Given the description of an element on the screen output the (x, y) to click on. 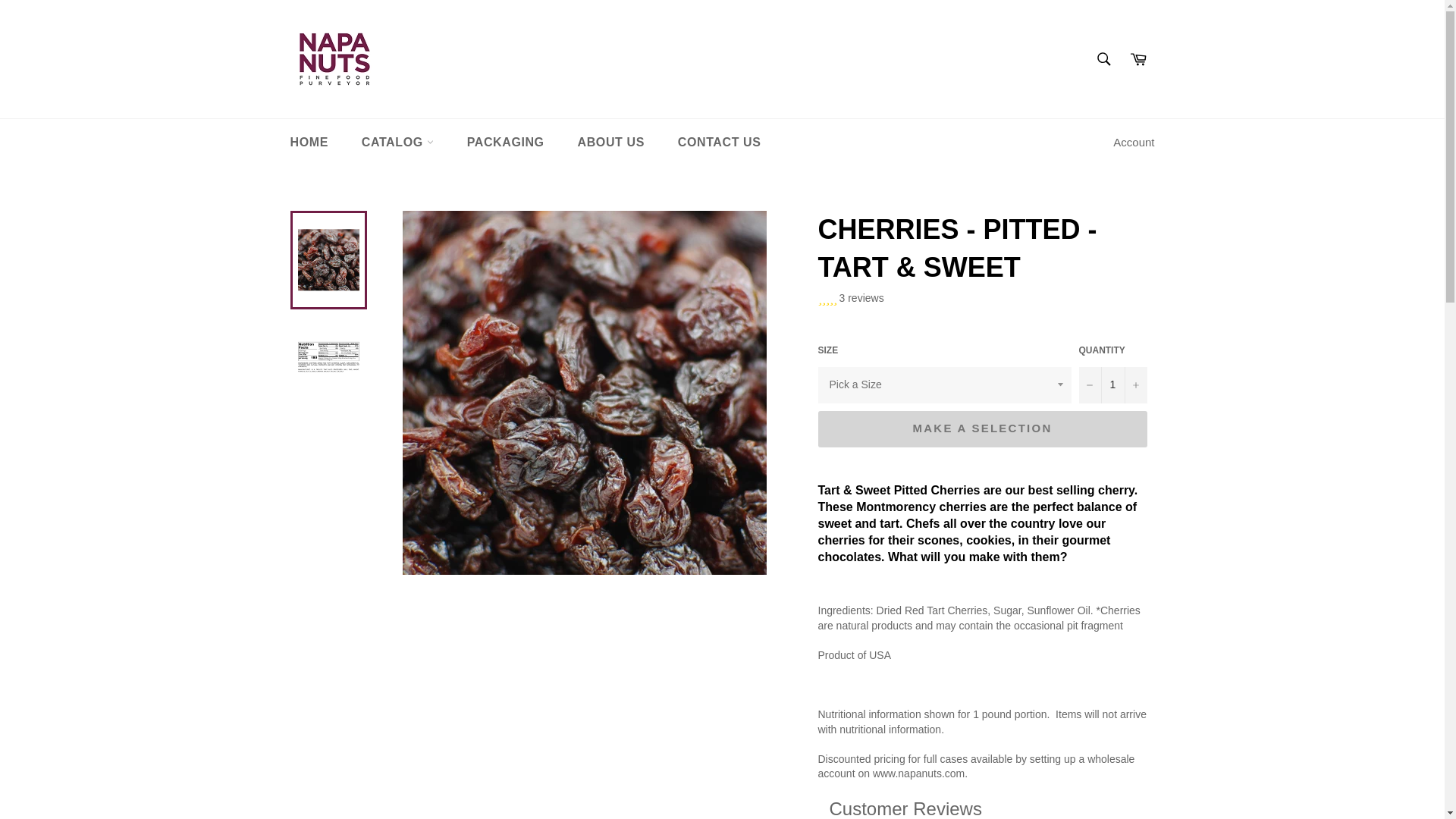
Cart (1138, 59)
1 (1112, 384)
HOME (308, 142)
Search (1102, 59)
CATALOG (397, 142)
